Given the description of an element on the screen output the (x, y) to click on. 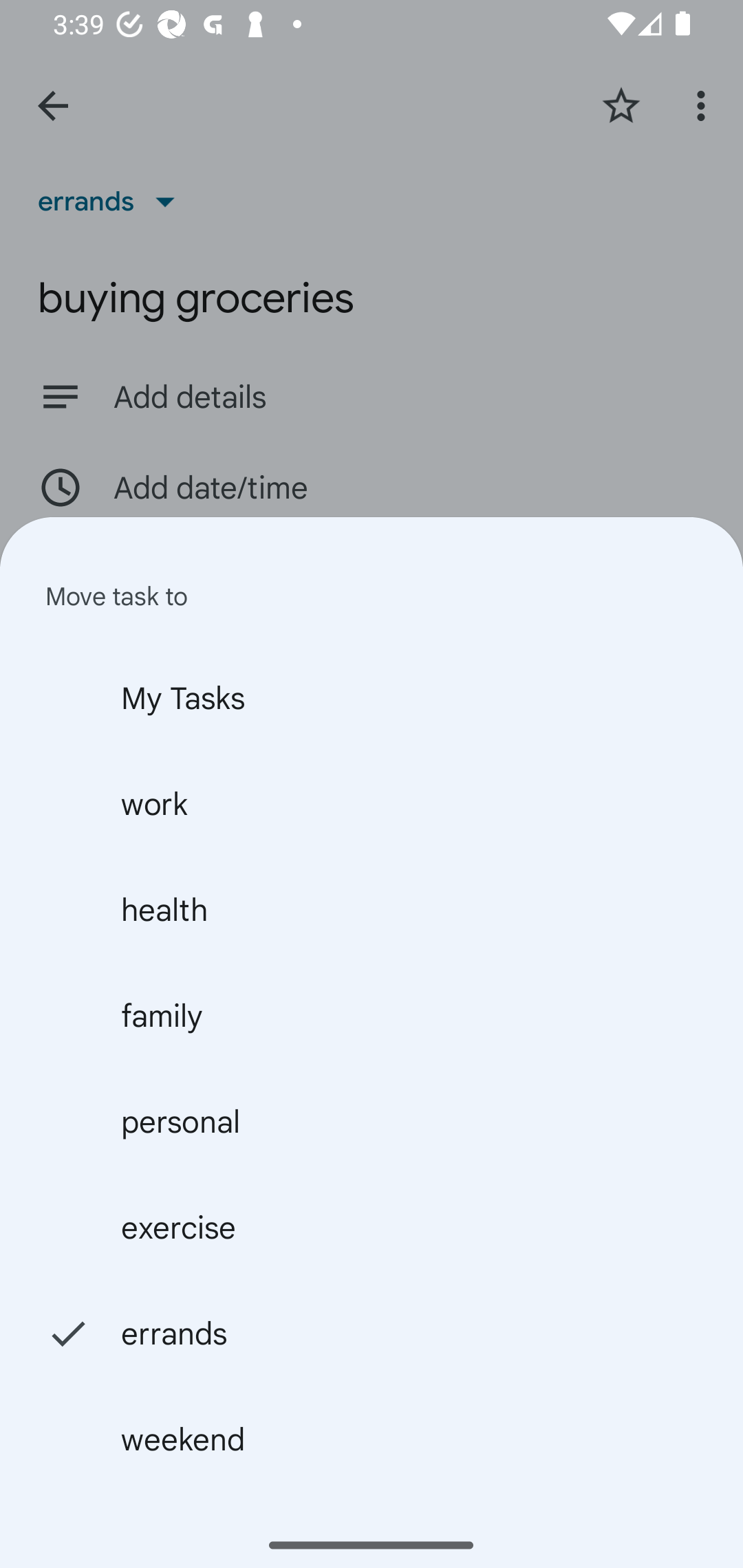
My Tasks (371, 697)
work (371, 803)
health (371, 909)
family (371, 1015)
personal (371, 1121)
exercise (371, 1227)
errands (371, 1333)
weekend (371, 1439)
